Given the description of an element on the screen output the (x, y) to click on. 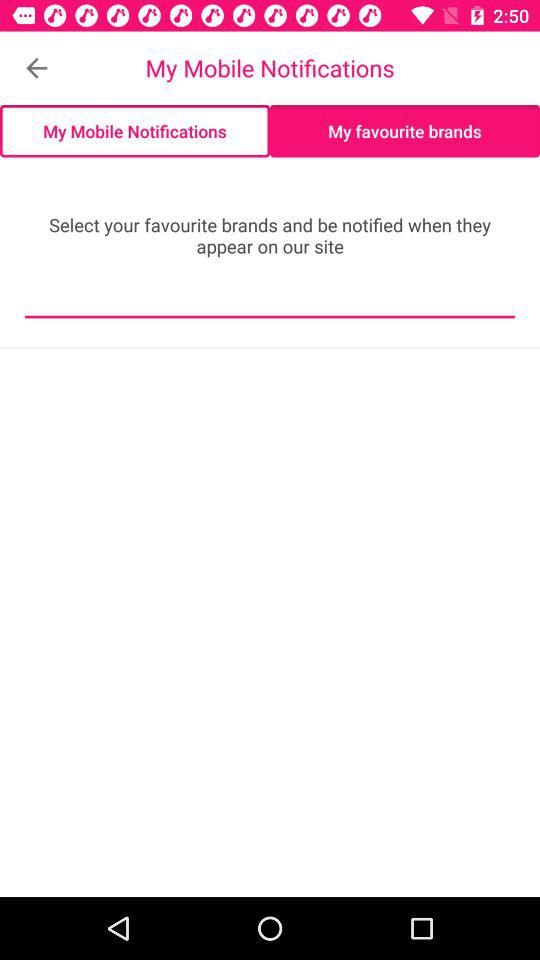
enter brand name (269, 302)
